Given the description of an element on the screen output the (x, y) to click on. 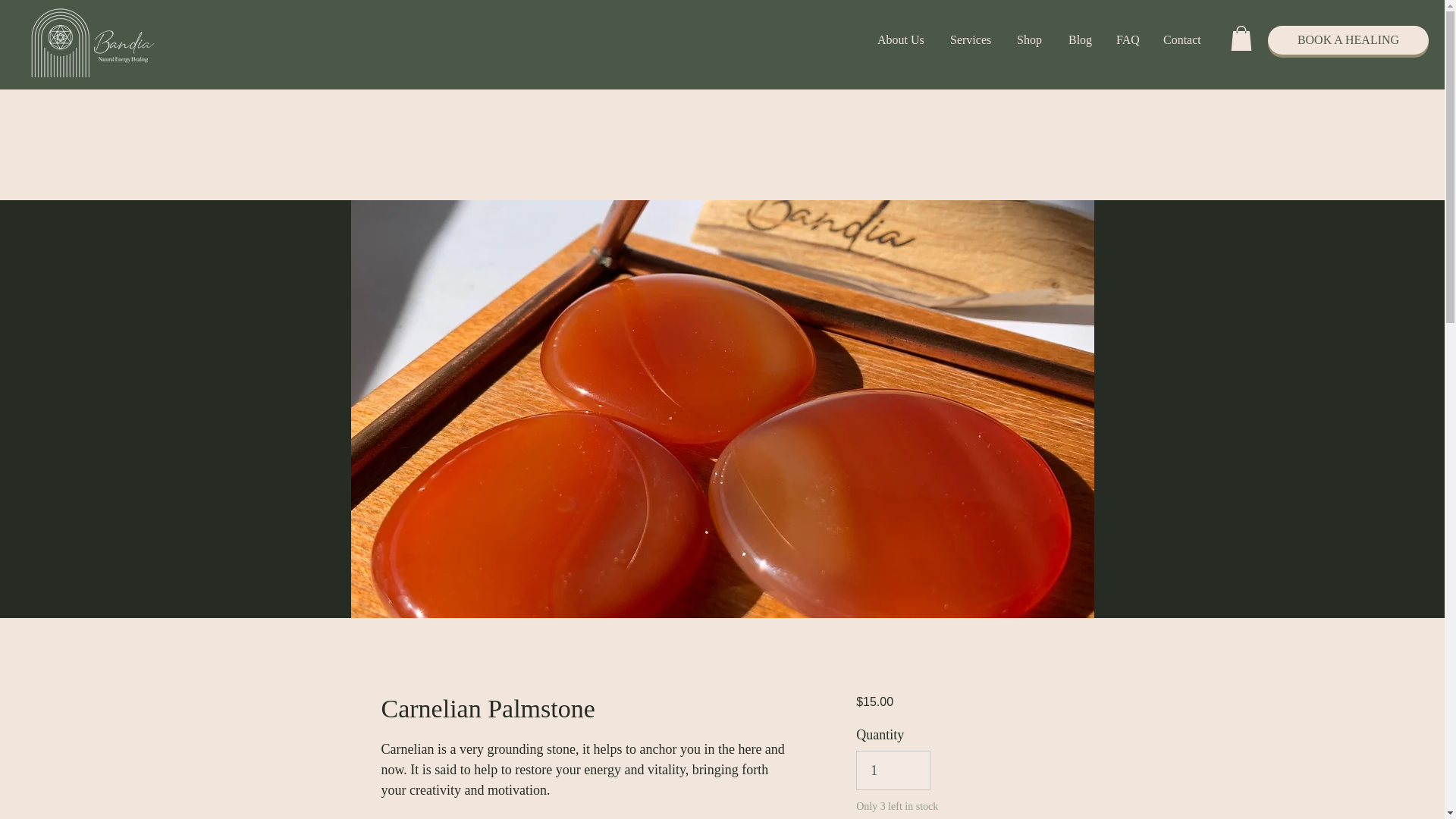
Contact (1183, 40)
1 (893, 770)
About Us (901, 40)
Blog (1080, 40)
FAQ (1127, 40)
BOOK A HEALING (1348, 39)
Shop (1030, 40)
